Given the description of an element on the screen output the (x, y) to click on. 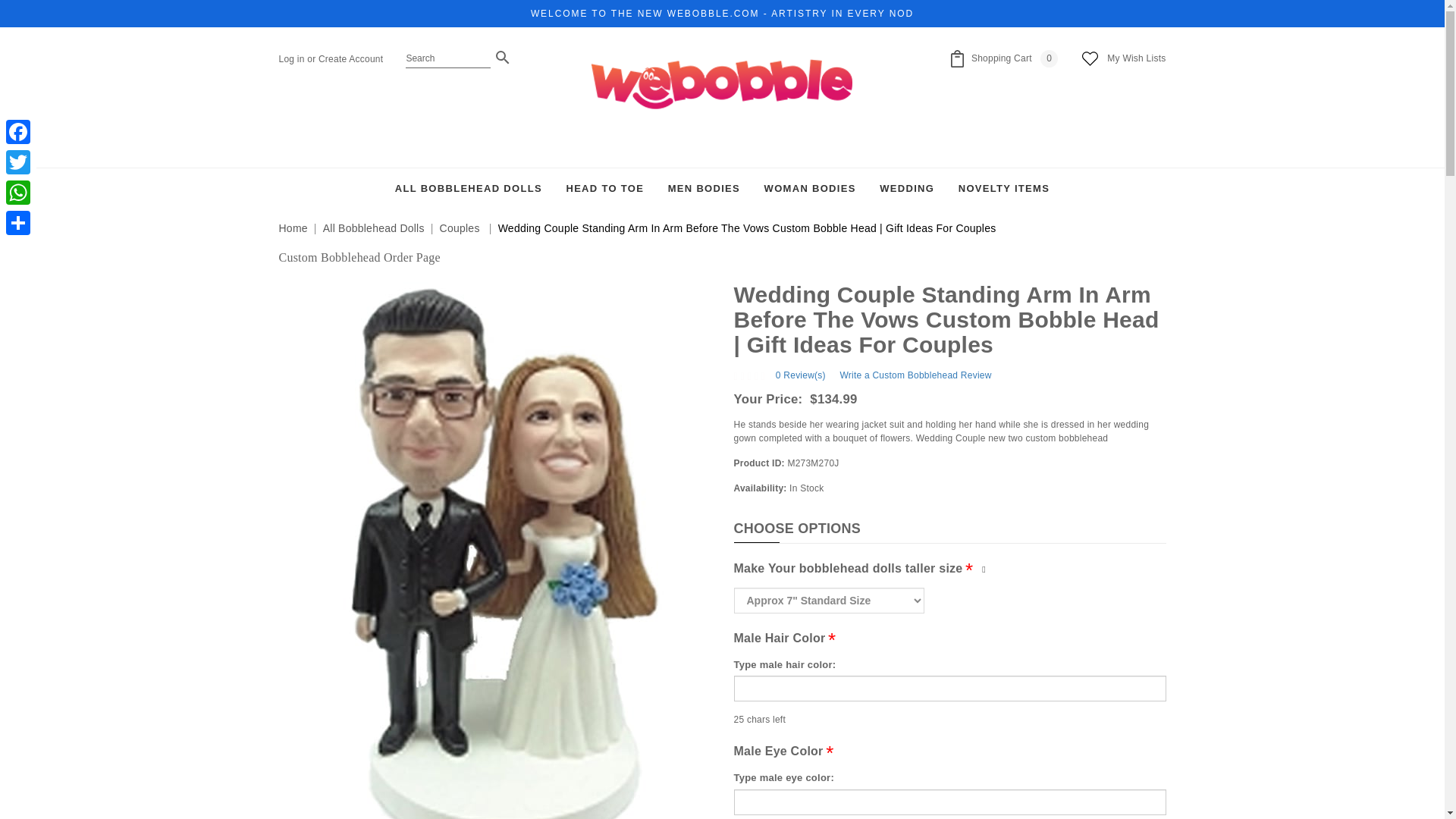
Shopping Cart 0 (1004, 58)
ALL BOBBLEHEAD DOLLS (467, 189)
Create Account (350, 59)
home (720, 98)
Log in (291, 59)
My Wish Lists (1136, 59)
